Given the description of an element on the screen output the (x, y) to click on. 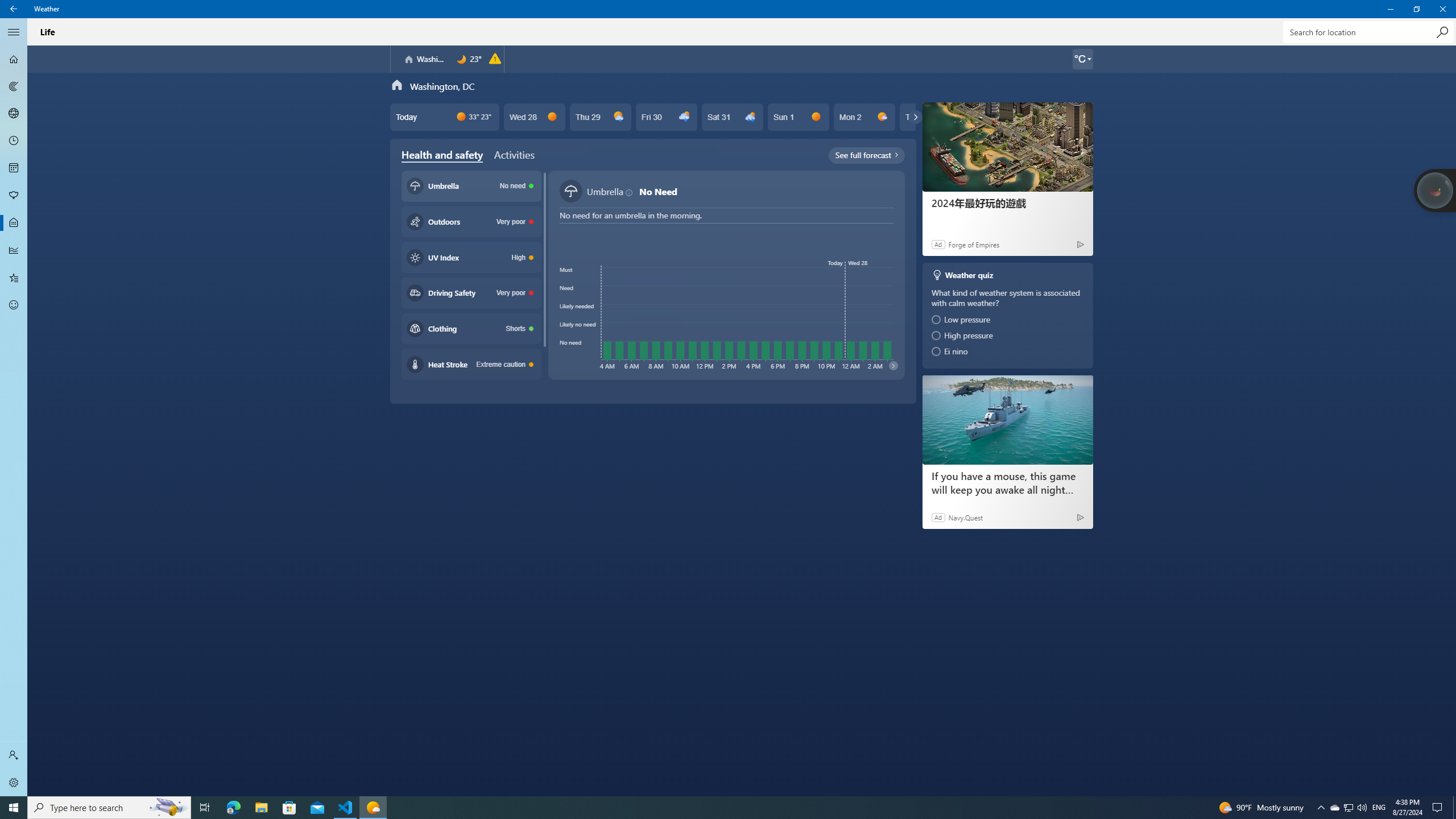
Life - Not Selected (13, 222)
Maps - Not Selected (13, 85)
Settings (13, 782)
Send Feedback - Not Selected (13, 304)
Pollen - Not Selected (13, 195)
Forecast - Not Selected (13, 58)
Hourly Forecast - Not Selected (13, 140)
Historical Weather - Not Selected (13, 249)
Search for location (1367, 32)
Close Weather (1442, 9)
Monthly Forecast - Not Selected (13, 167)
